Given the description of an element on the screen output the (x, y) to click on. 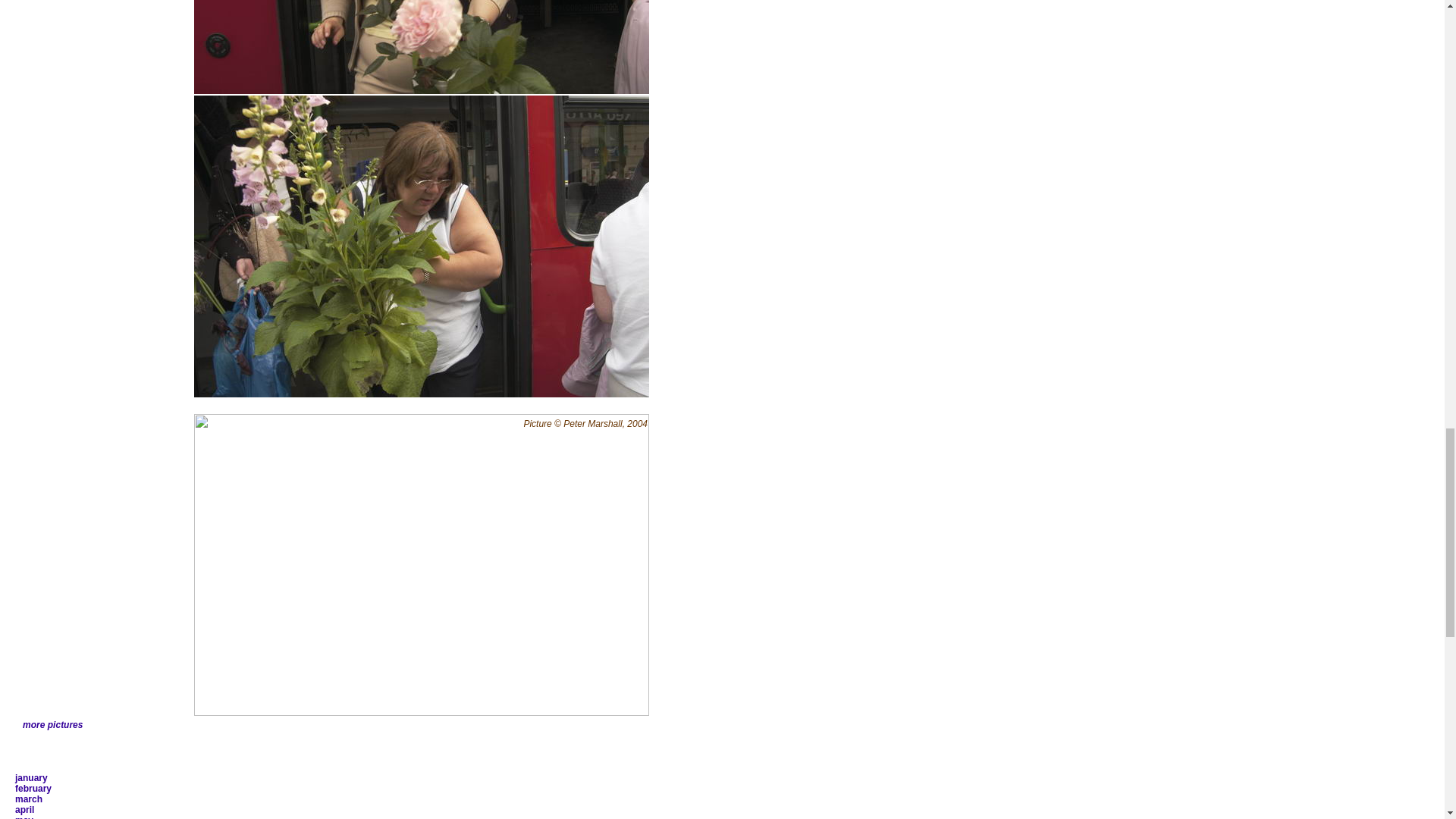
february (32, 787)
march (28, 798)
may (23, 816)
january (31, 777)
april (23, 809)
more pictures (52, 724)
